Given the description of an element on the screen output the (x, y) to click on. 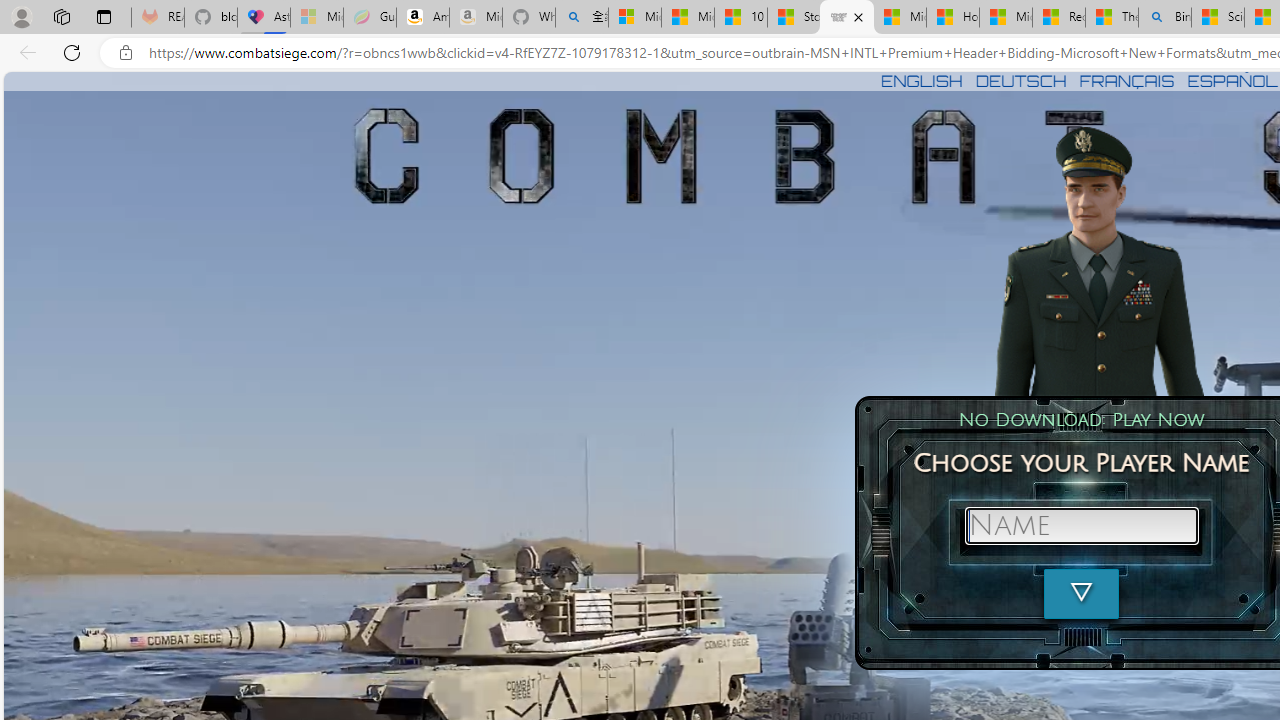
ENGLISH (921, 80)
Name (1081, 525)
